Given the description of an element on the screen output the (x, y) to click on. 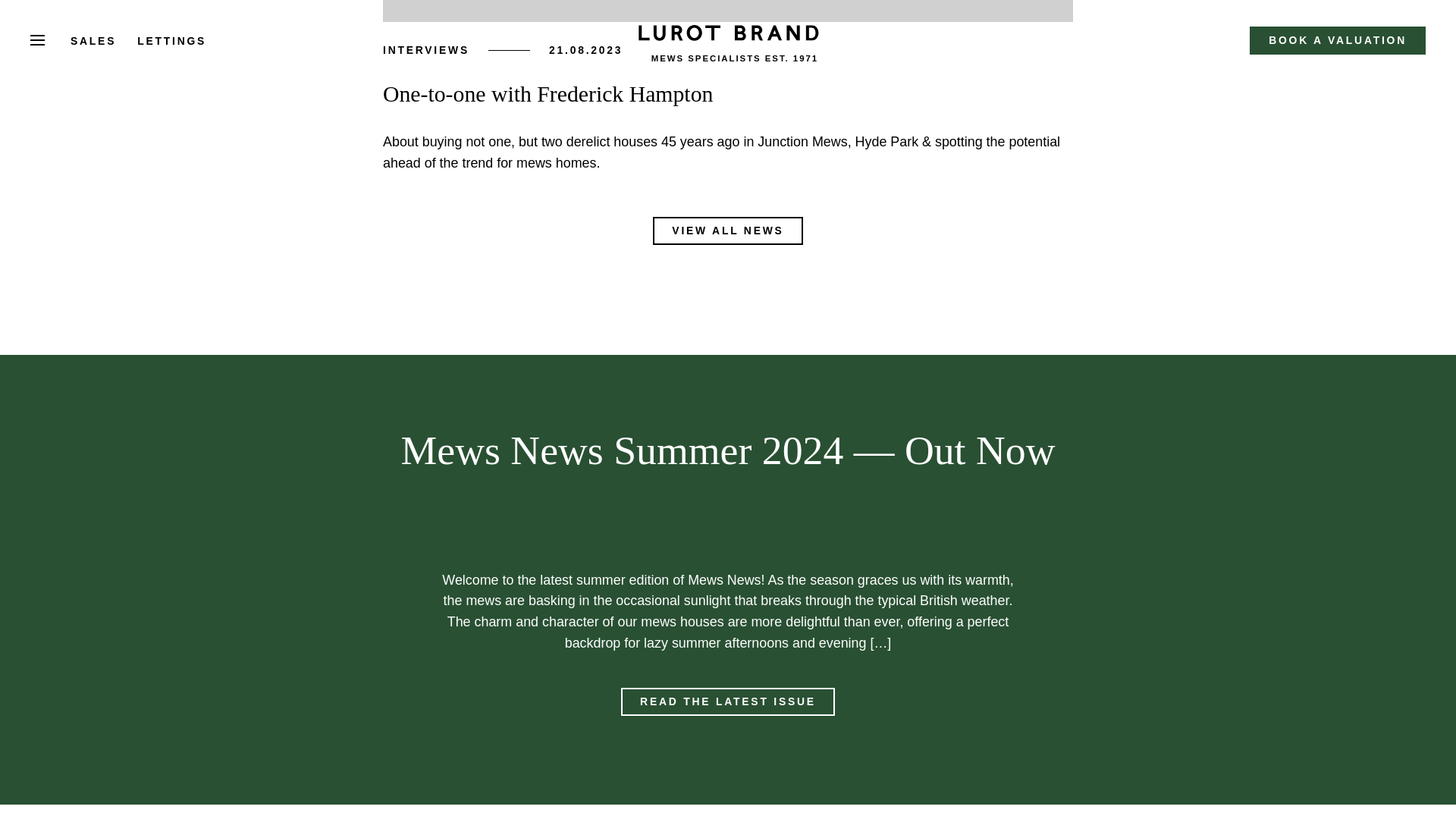
Interviews (425, 49)
Mews News (727, 701)
